Given the description of an element on the screen output the (x, y) to click on. 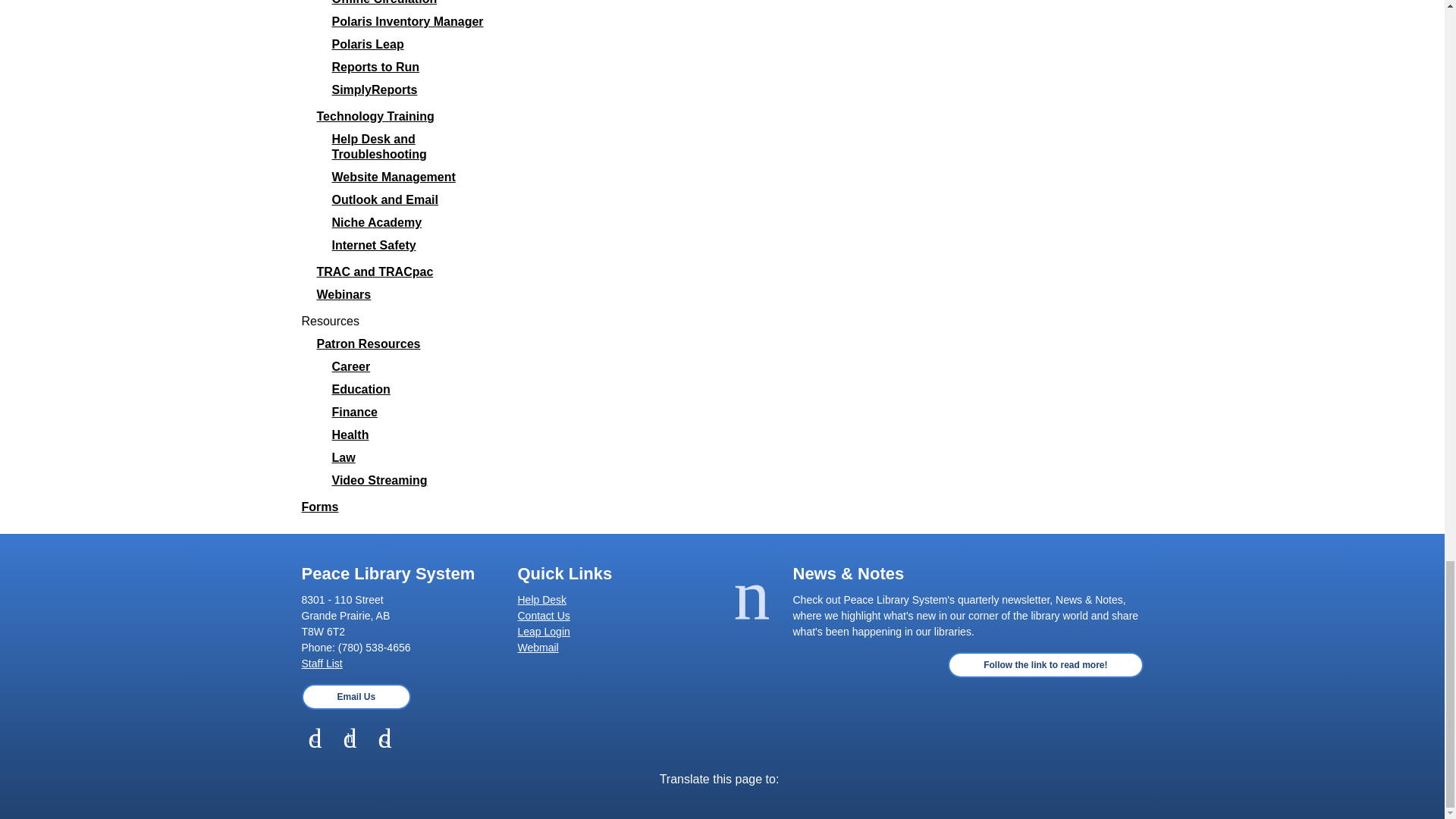
Youtube (384, 738)
Instagram (350, 738)
Facebook (315, 738)
